Given the description of an element on the screen output the (x, y) to click on. 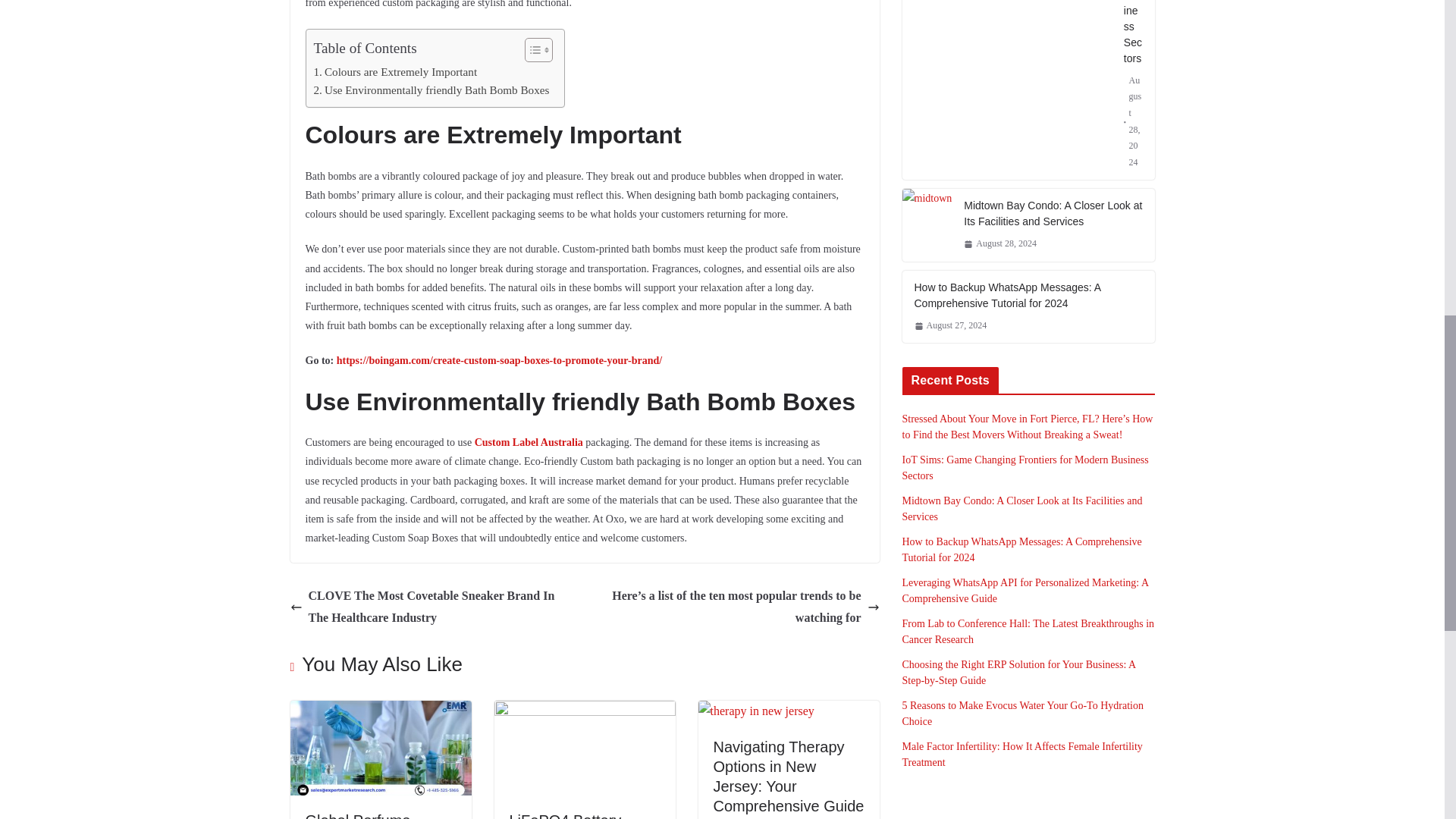
Use Environmentally friendly Bath Bomb Boxes (432, 90)
Colours are Extremely Important (395, 72)
Custom Label Australia (528, 441)
Colours are Extremely Important (395, 72)
